Given the description of an element on the screen output the (x, y) to click on. 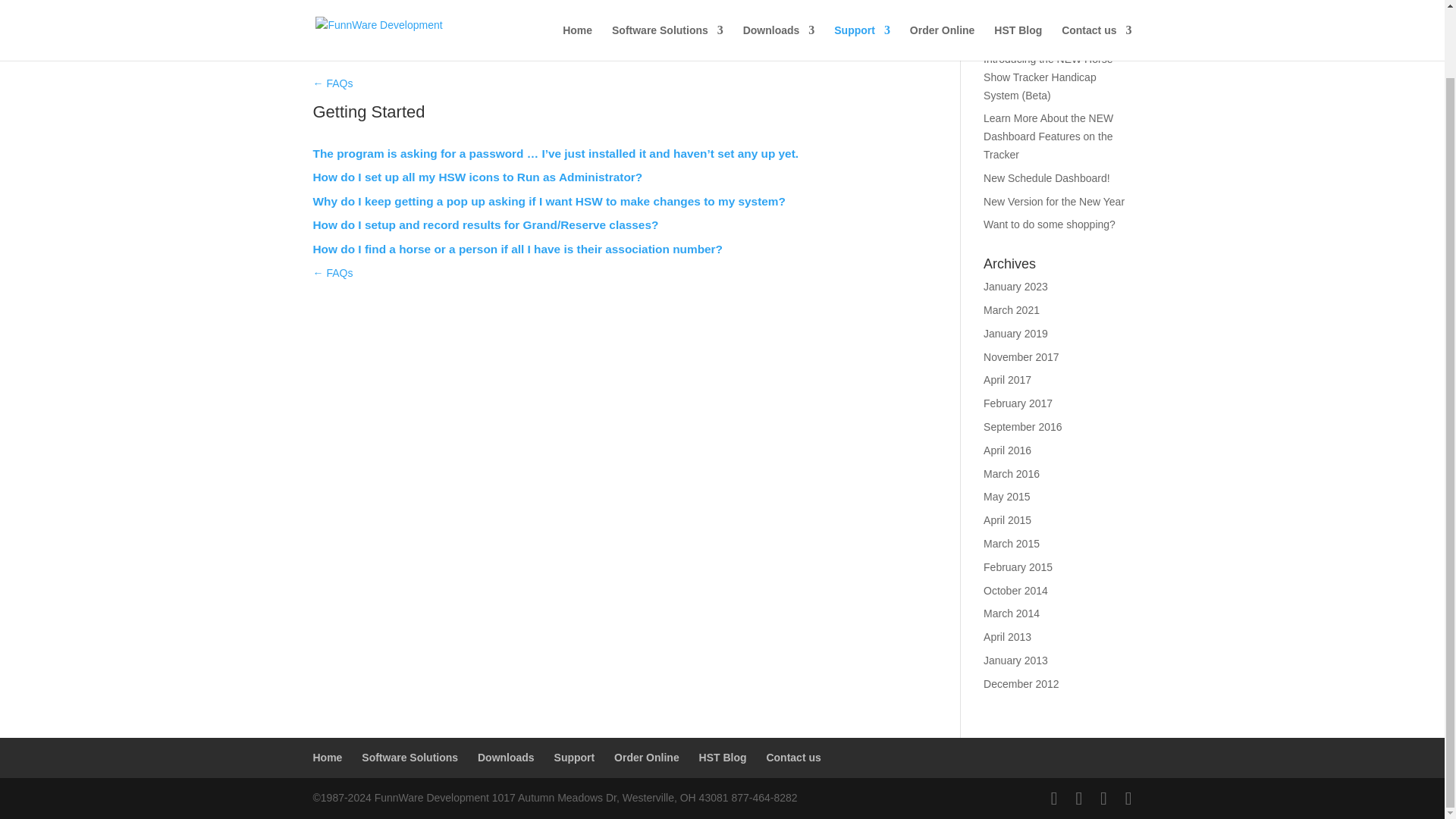
FAQs (332, 82)
How do I set up all my HSW icons to Run as Administrator? (477, 176)
FAQs (332, 272)
